Given the description of an element on the screen output the (x, y) to click on. 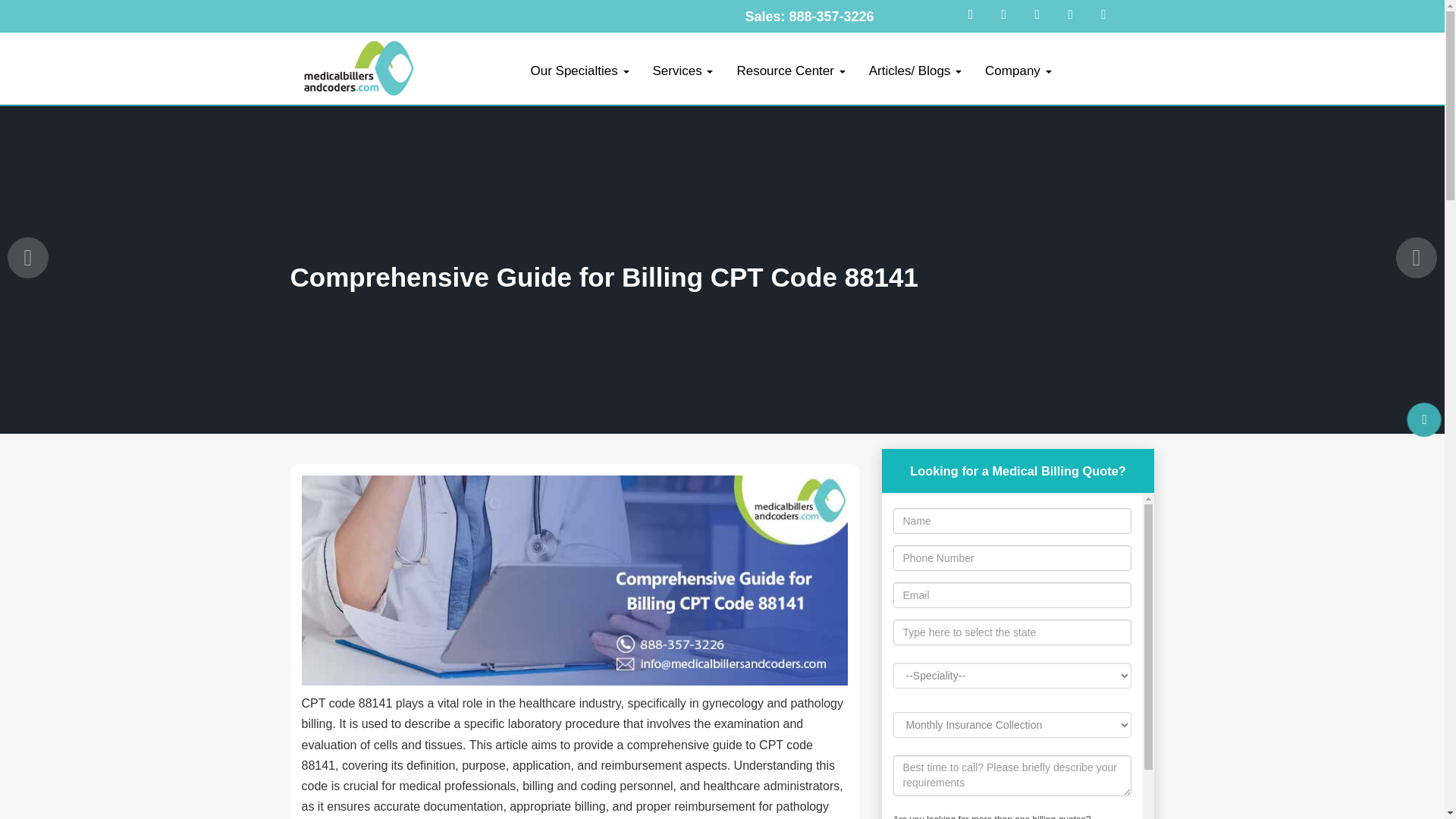
Sales: 888-357-3226 (808, 16)
Our Specialties (579, 71)
Services (681, 71)
